Given the description of an element on the screen output the (x, y) to click on. 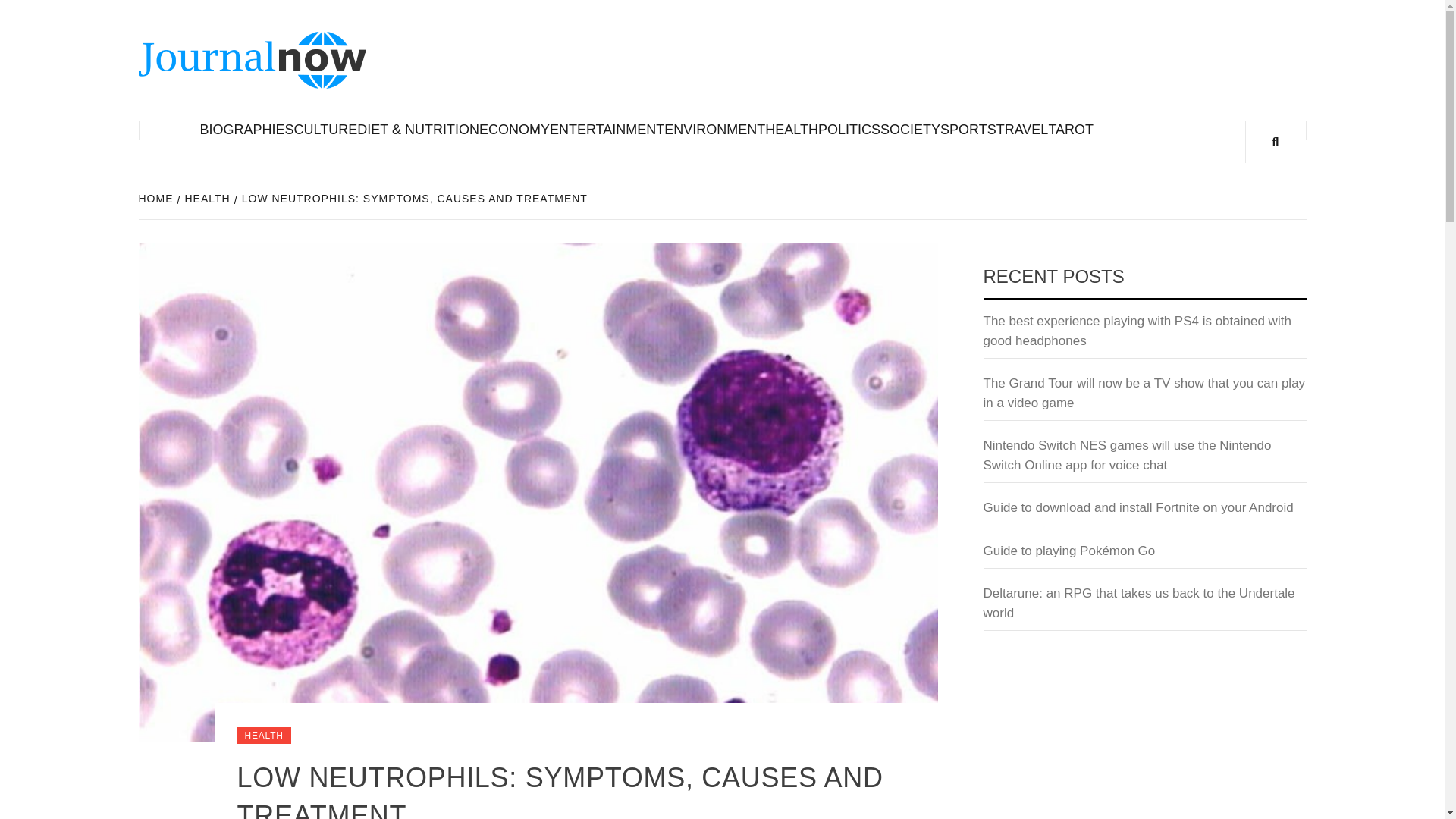
HOME (157, 198)
BIOGRAPHIES (247, 129)
TRAVEL (1021, 129)
Guide to download and install Fortnite on your Android (1144, 511)
LOW NEUTROPHILS: SYMPTOMS, CAUSES AND TREATMENT (412, 198)
JOURNALNOW (494, 54)
HEALTH (791, 129)
CULTURE (326, 129)
ECONOMY (514, 129)
ENTERTAINMENT (606, 129)
TAROT (1070, 129)
HEALTH (262, 735)
HEALTH (205, 198)
